Given the description of an element on the screen output the (x, y) to click on. 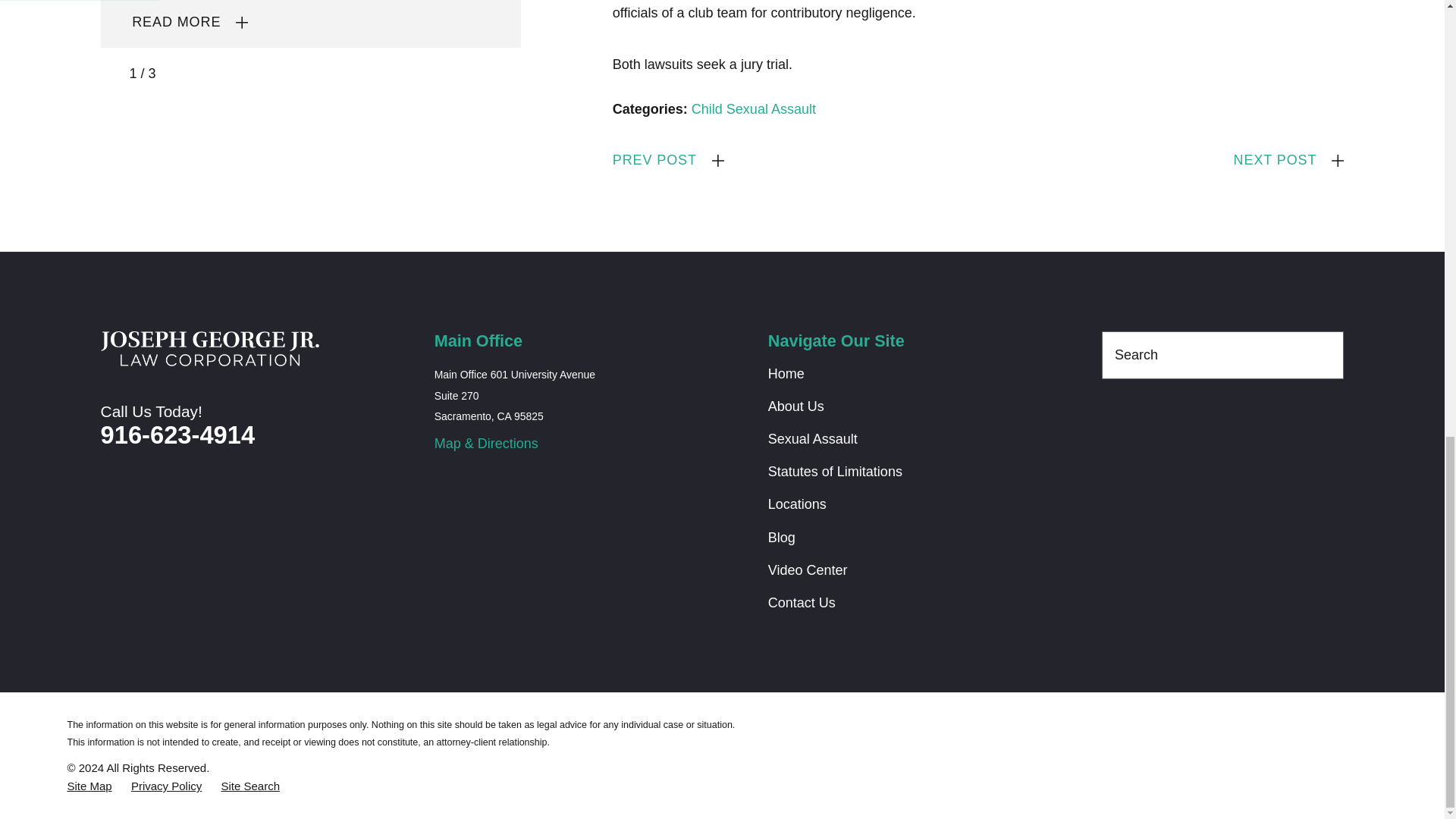
View previous item (108, 73)
Home (209, 348)
YouTube (1154, 422)
LinkedIn (1198, 422)
Search Our Site (1323, 354)
View next item (176, 73)
Facebook (1111, 422)
